Given the description of an element on the screen output the (x, y) to click on. 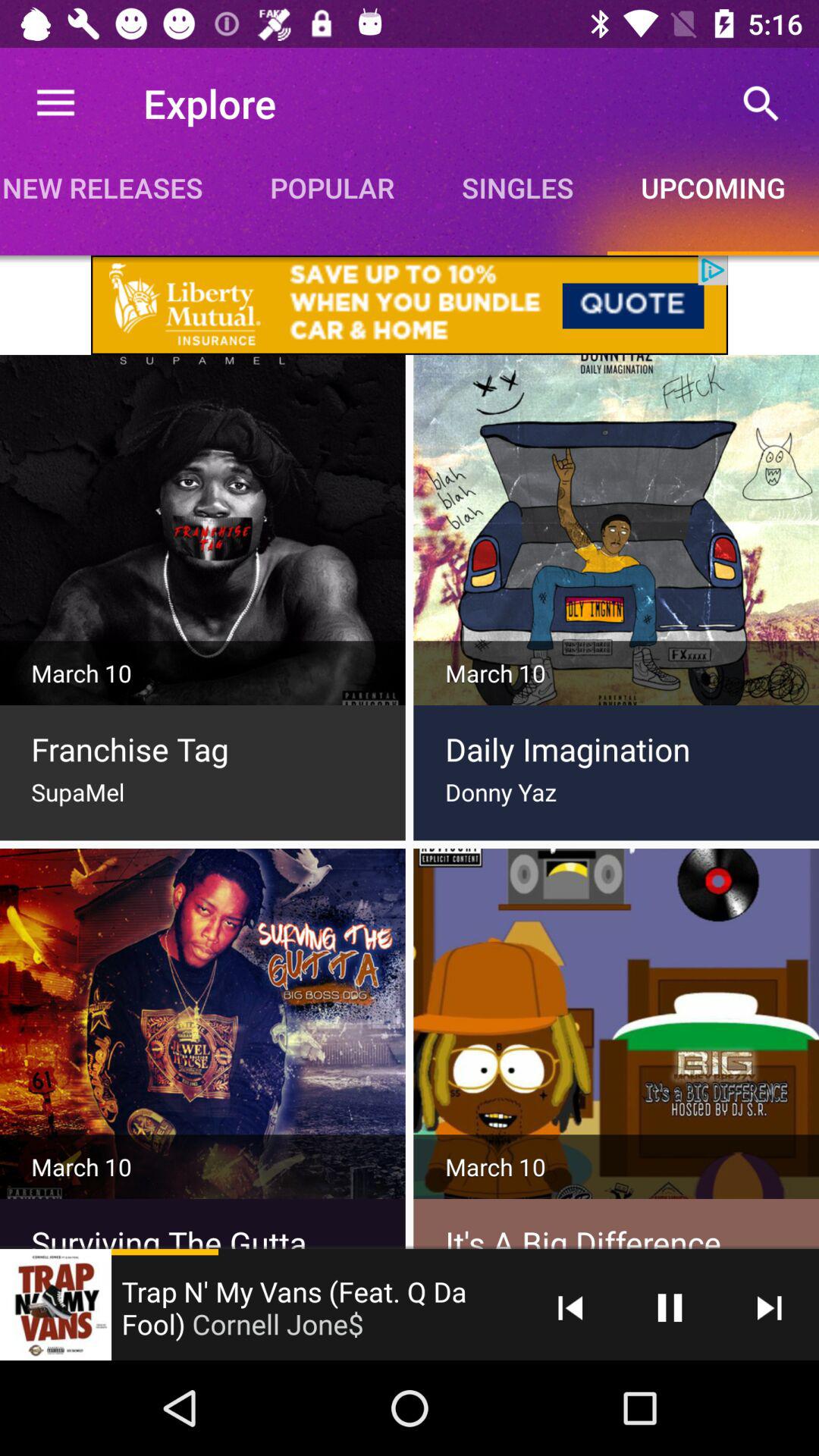
launch the item next to upcoming (517, 187)
